Given the description of an element on the screen output the (x, y) to click on. 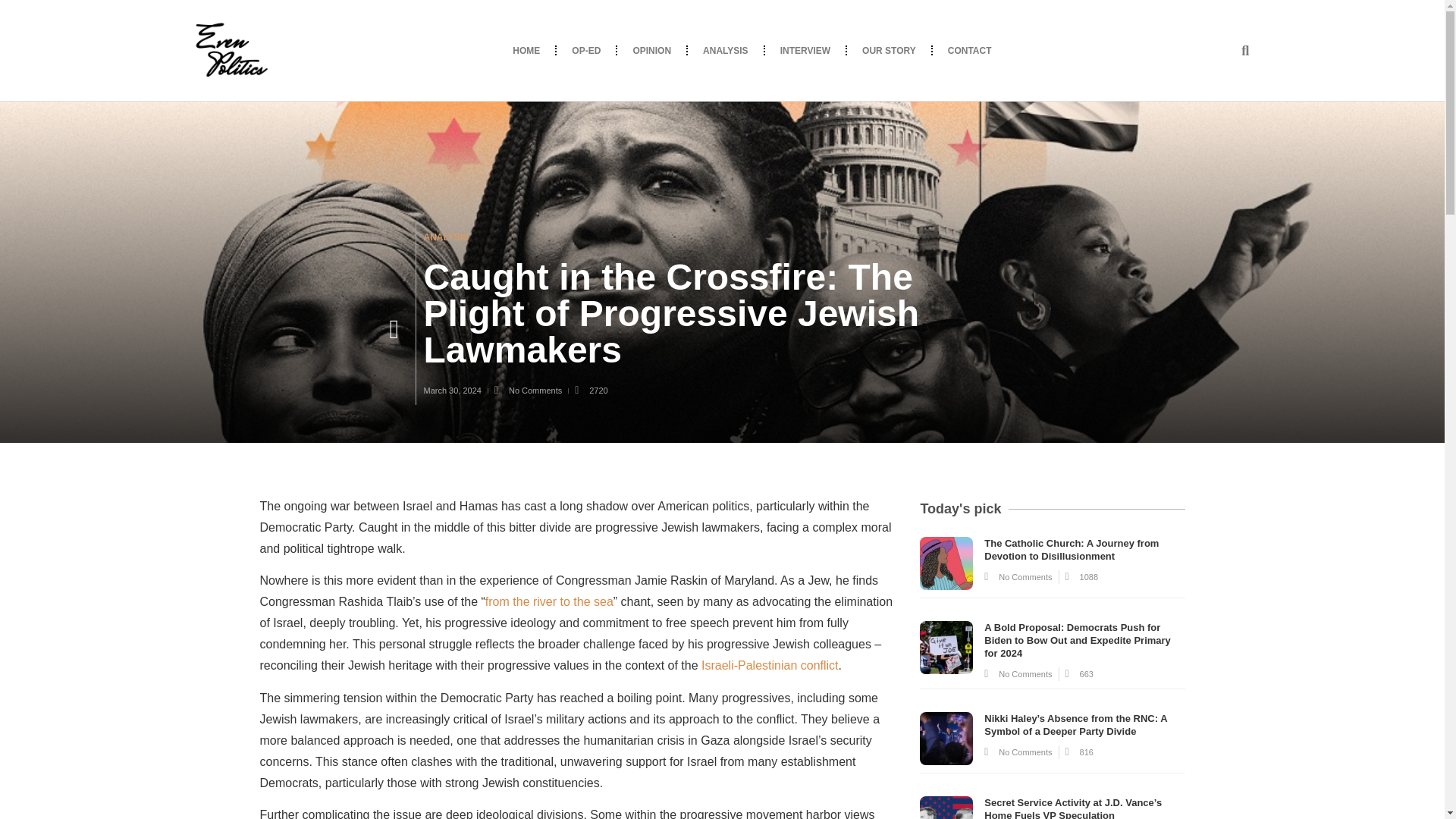
from the river to the sea (548, 601)
cropped-400x400White.jpg (229, 50)
ANALYSIS (445, 236)
OUR STORY (889, 50)
March 30, 2024 (451, 390)
OPINION (651, 50)
INTERVIEW (805, 50)
ANALYSIS (724, 50)
CONTACT (970, 50)
OP-ED (585, 50)
HOME (525, 50)
No Comments (528, 390)
Israeli-Palestinian conflict (769, 665)
